Given the description of an element on the screen output the (x, y) to click on. 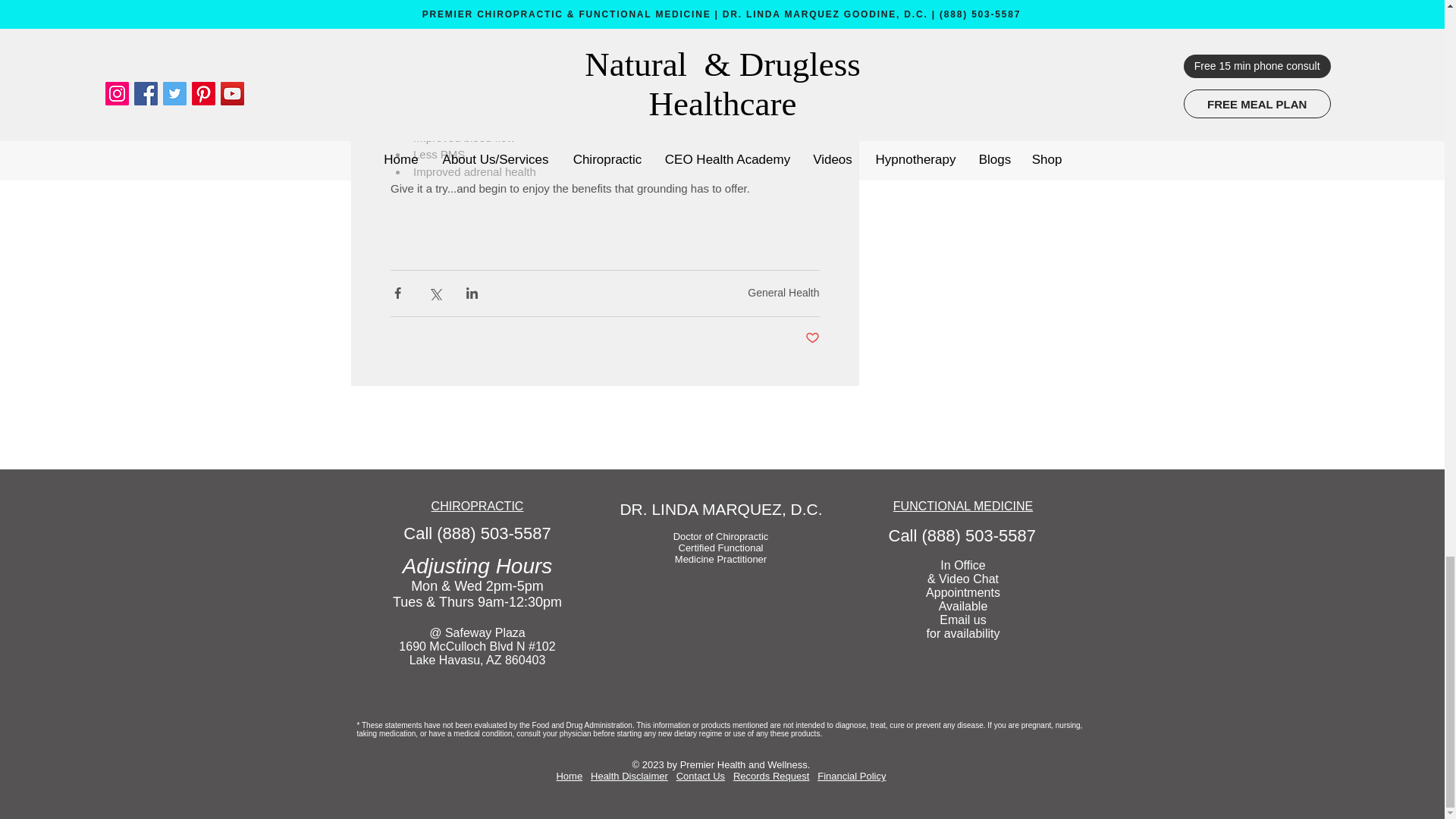
Post not marked as liked (812, 338)
General Health (783, 292)
